Given the description of an element on the screen output the (x, y) to click on. 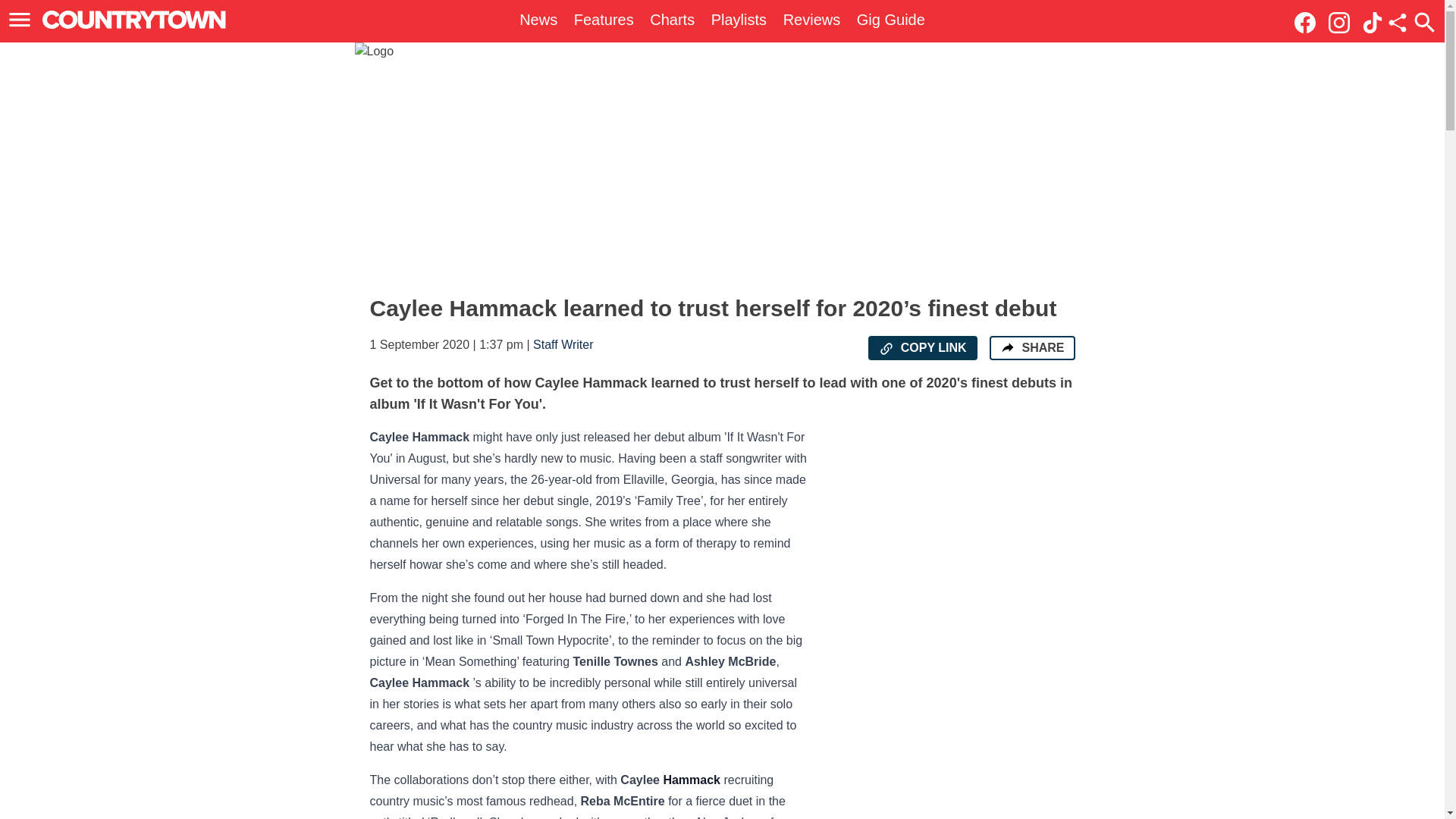
News (538, 19)
Staff Writer (562, 344)
Copy the page URL (886, 348)
Reviews (812, 19)
Link to our Facebook (1305, 22)
Link to our TikTok (1372, 22)
Link to our Instagram (1342, 21)
Charts (671, 19)
Open the main menu (19, 19)
Link to our Facebook (1309, 21)
Share this page (1397, 22)
Share this page (1397, 22)
Open the site search menu (1424, 22)
Open the main menu (22, 19)
Link to our Instagram (1338, 22)
